Given the description of an element on the screen output the (x, y) to click on. 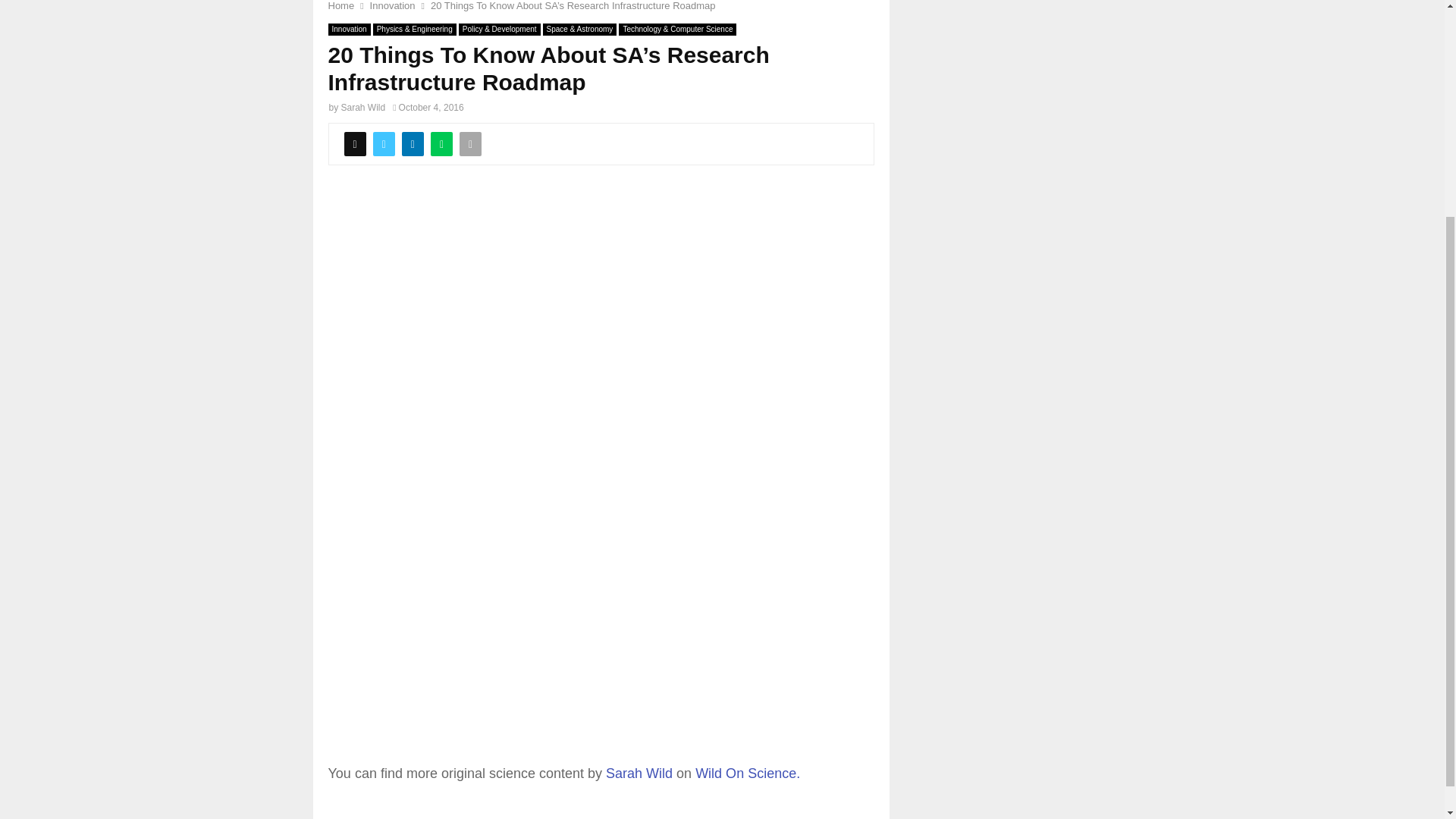
Sarah Wild (362, 107)
Sarah Wild (638, 773)
Home (340, 5)
Wild On Science. (747, 773)
Innovation (348, 29)
Innovation (391, 5)
